Given the description of an element on the screen output the (x, y) to click on. 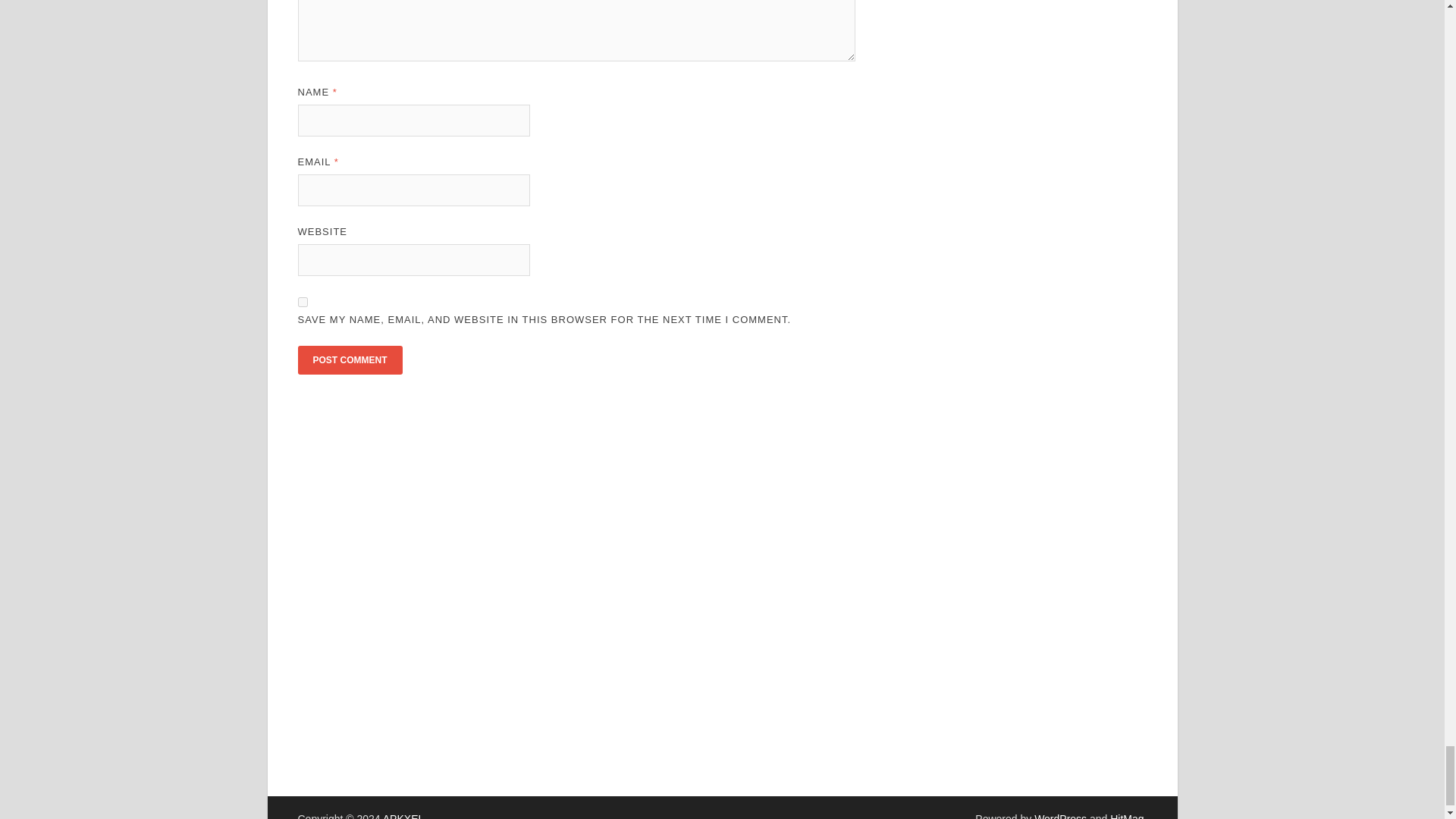
Post Comment (349, 359)
yes (302, 302)
